Given the description of an element on the screen output the (x, y) to click on. 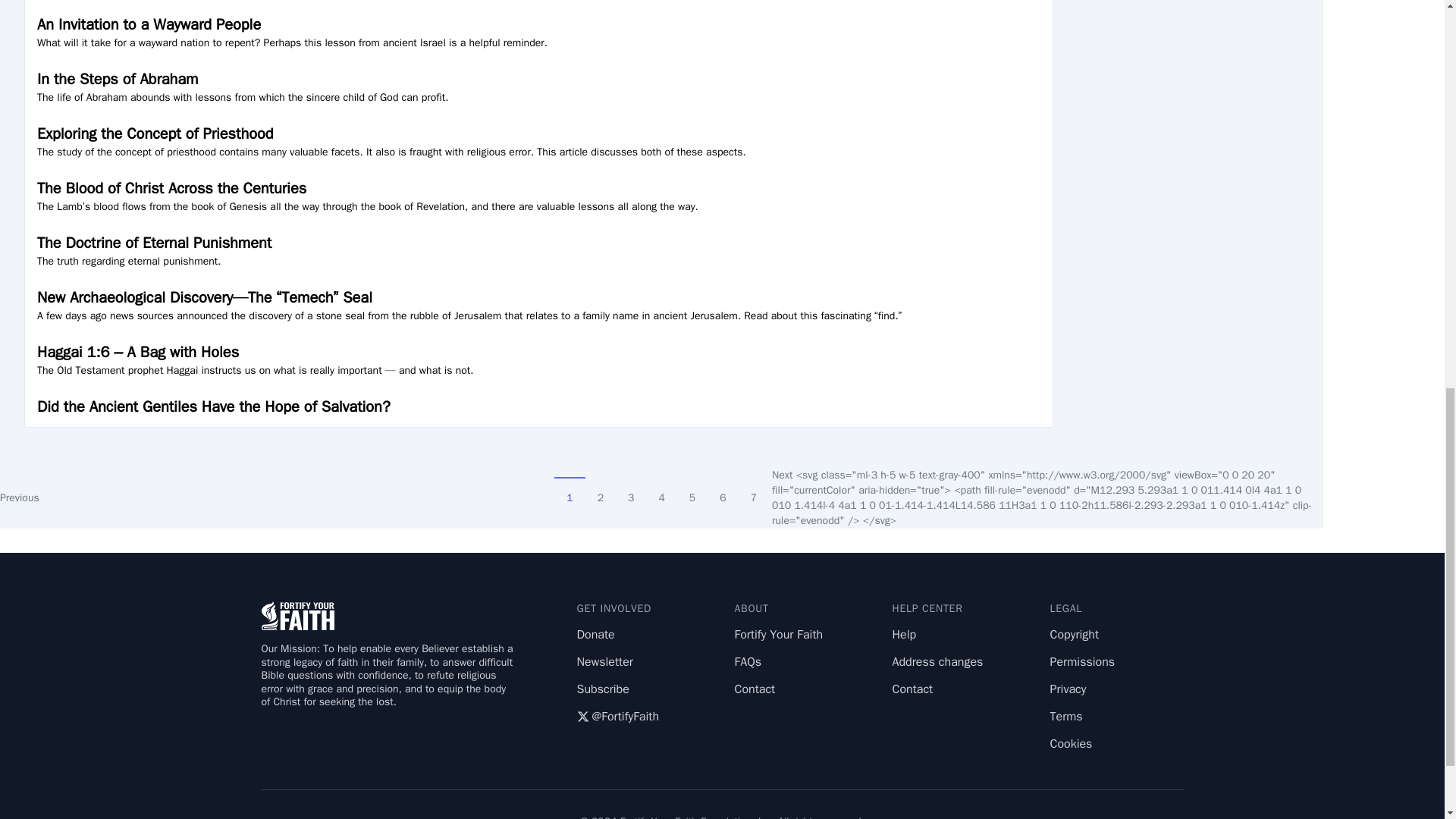
4 (661, 490)
2 (600, 490)
3 (630, 490)
Did the Ancient Gentiles Have the Hope of Salvation? (538, 406)
